Given the description of an element on the screen output the (x, y) to click on. 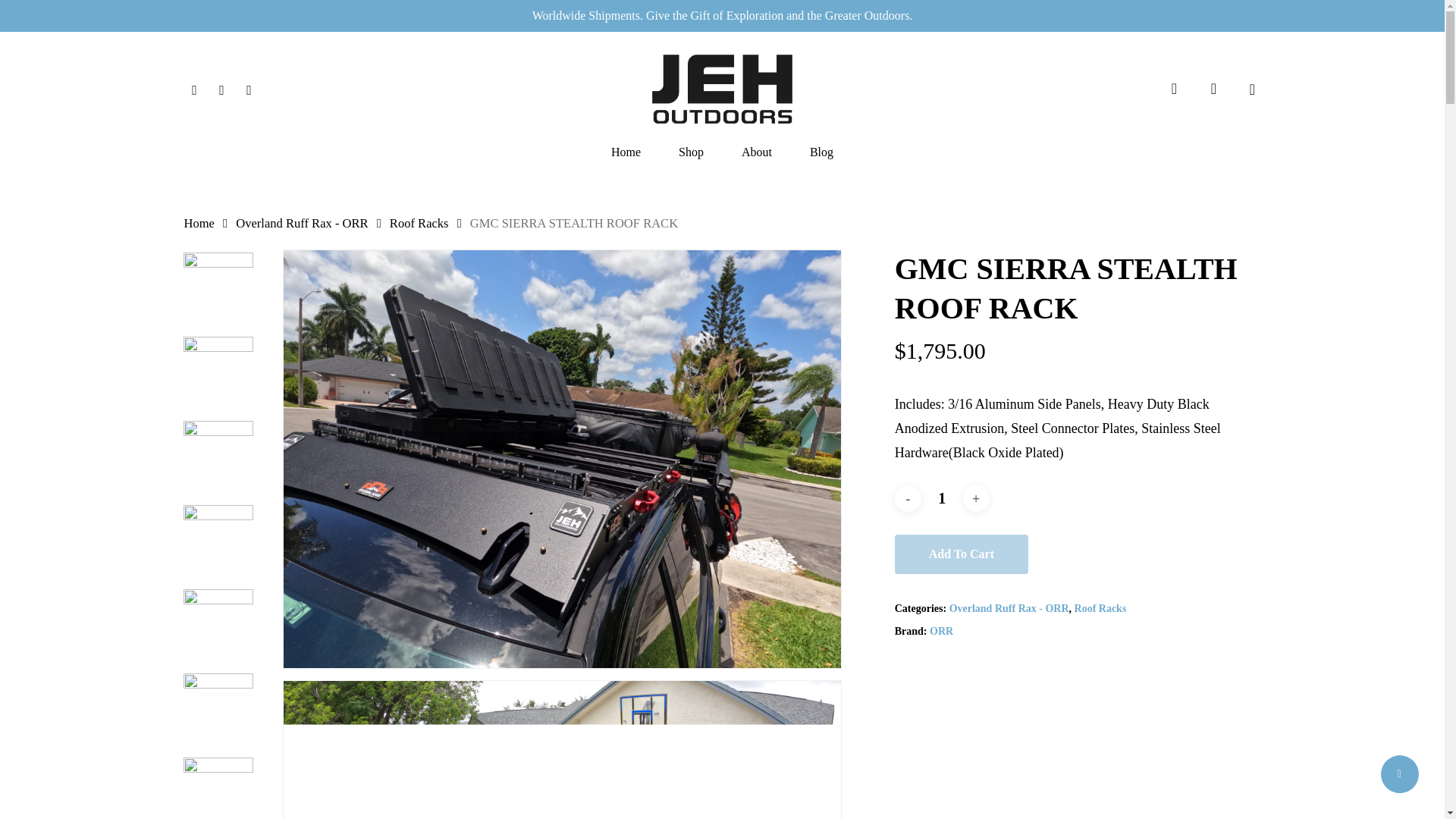
search (1173, 89)
ORR (941, 631)
Overland Ruff Rax - ORR (1008, 608)
Home (198, 222)
- (908, 498)
Blog (820, 152)
Home (625, 152)
Overland Ruff Rax - ORR (301, 222)
Facebook (194, 88)
About (756, 152)
